Given the description of an element on the screen output the (x, y) to click on. 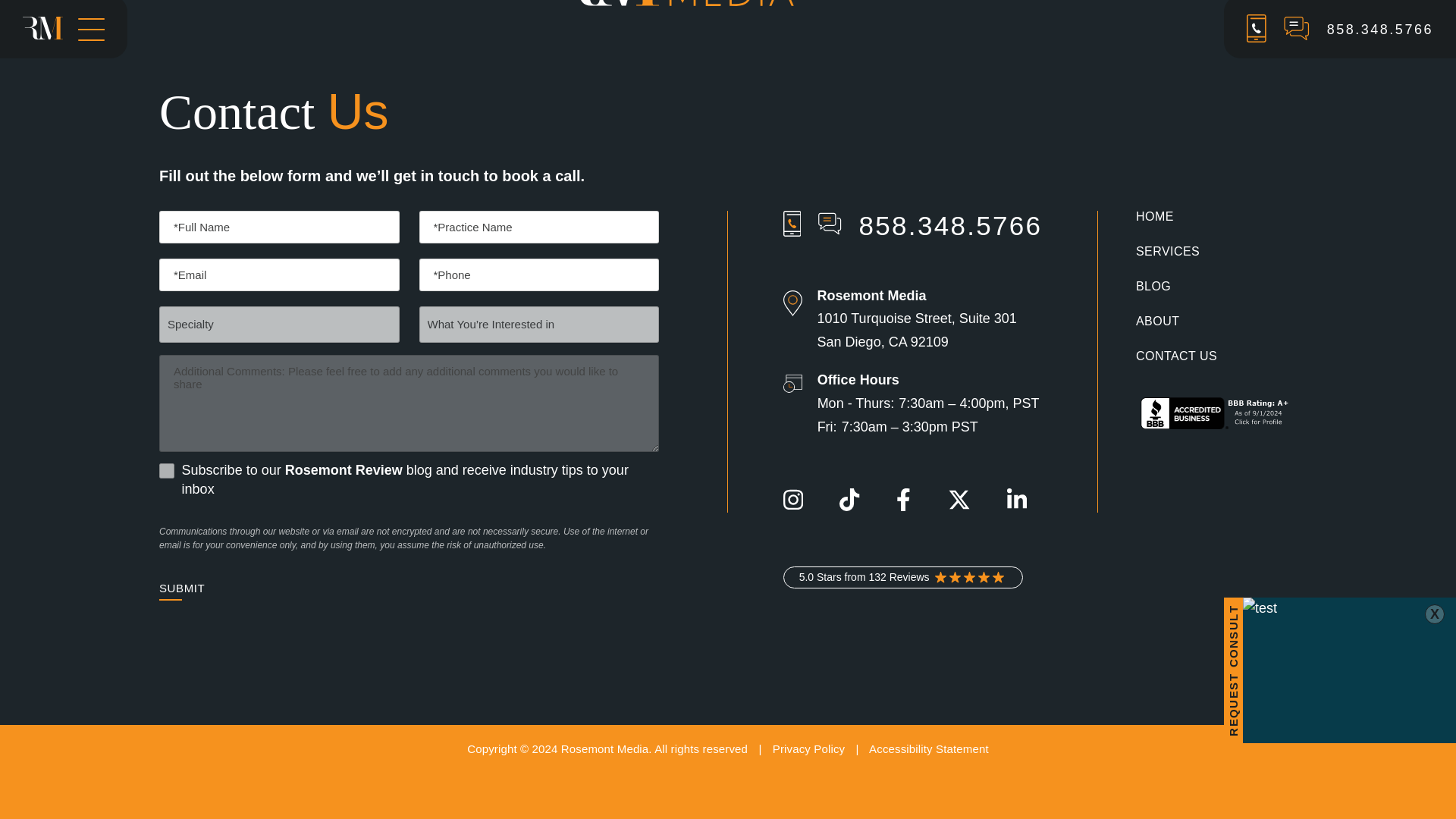
true (166, 470)
Rosemont Media (727, 2)
Submit (181, 587)
